Given the description of an element on the screen output the (x, y) to click on. 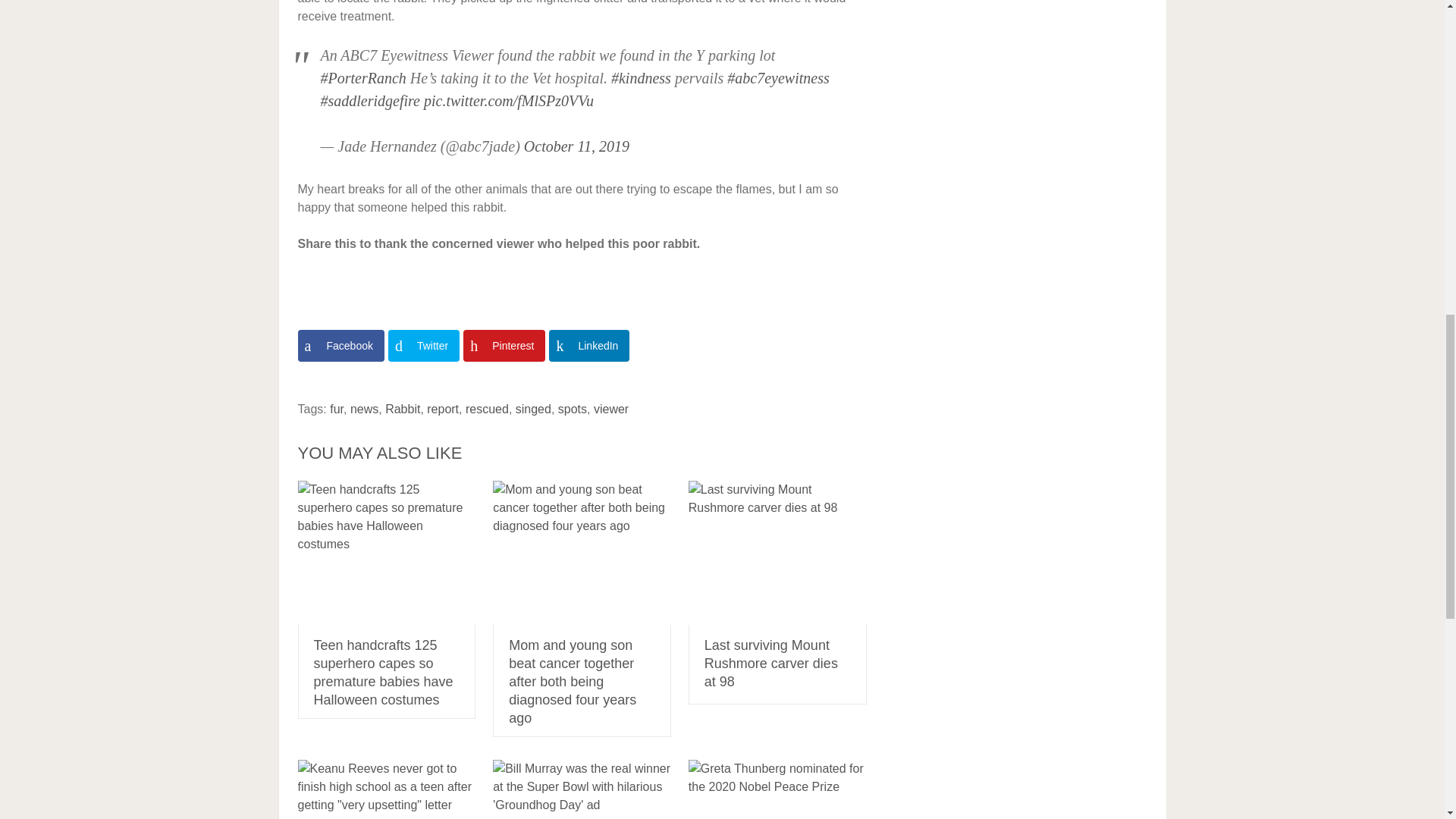
news (364, 408)
Facebook (340, 345)
report (442, 408)
Last surviving Mount Rushmore carver dies at 98 (777, 552)
October 11, 2019 (576, 146)
Share on Facebook (340, 345)
Share on LinkedIn (588, 345)
Twitter (424, 345)
singed (533, 408)
